Given the description of an element on the screen output the (x, y) to click on. 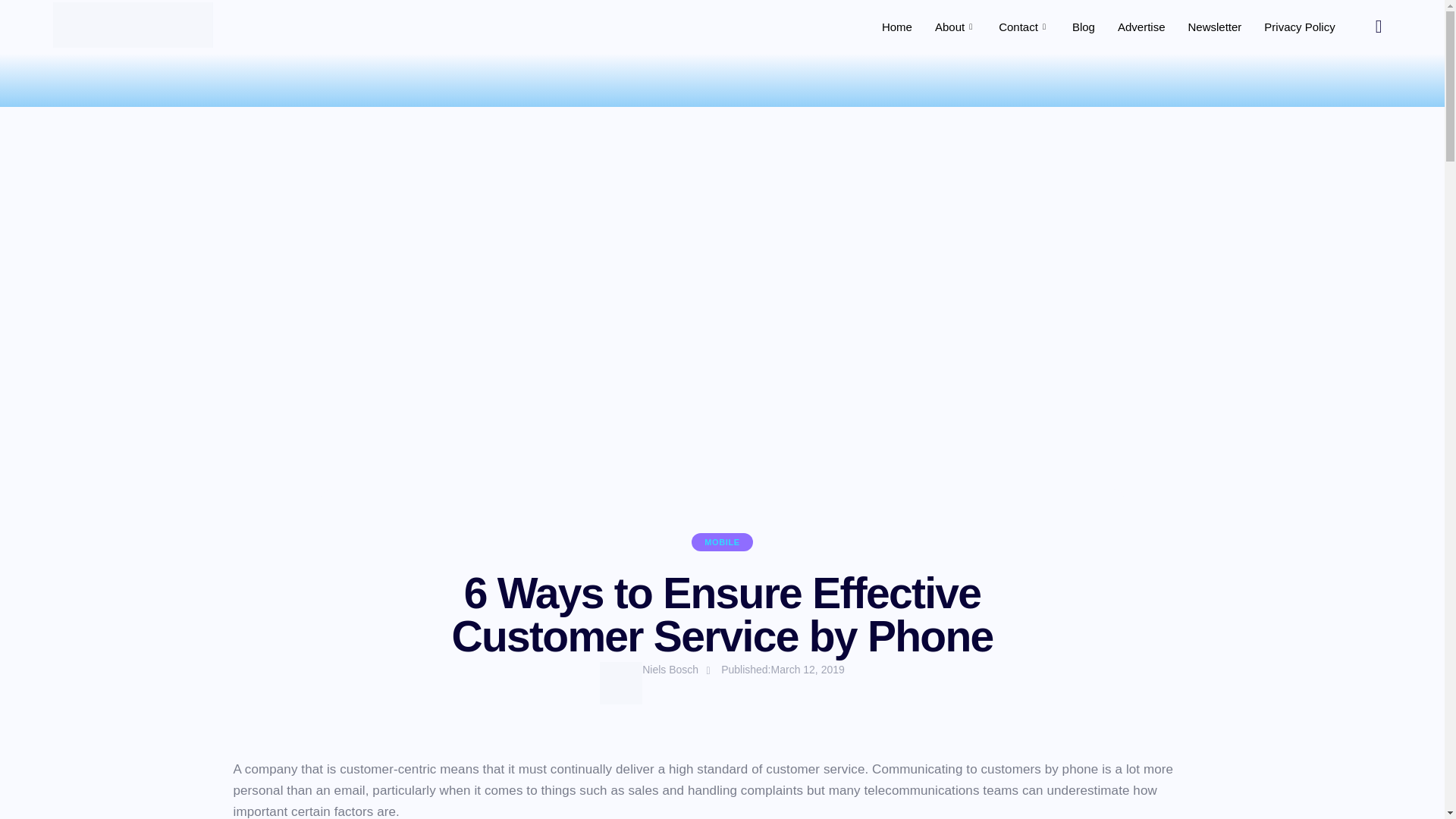
Home (896, 26)
Privacy Policy (1298, 26)
Contact (1024, 26)
Blog (1083, 26)
Newsletter (1214, 26)
About (955, 26)
Advertise (1141, 26)
